Given the description of an element on the screen output the (x, y) to click on. 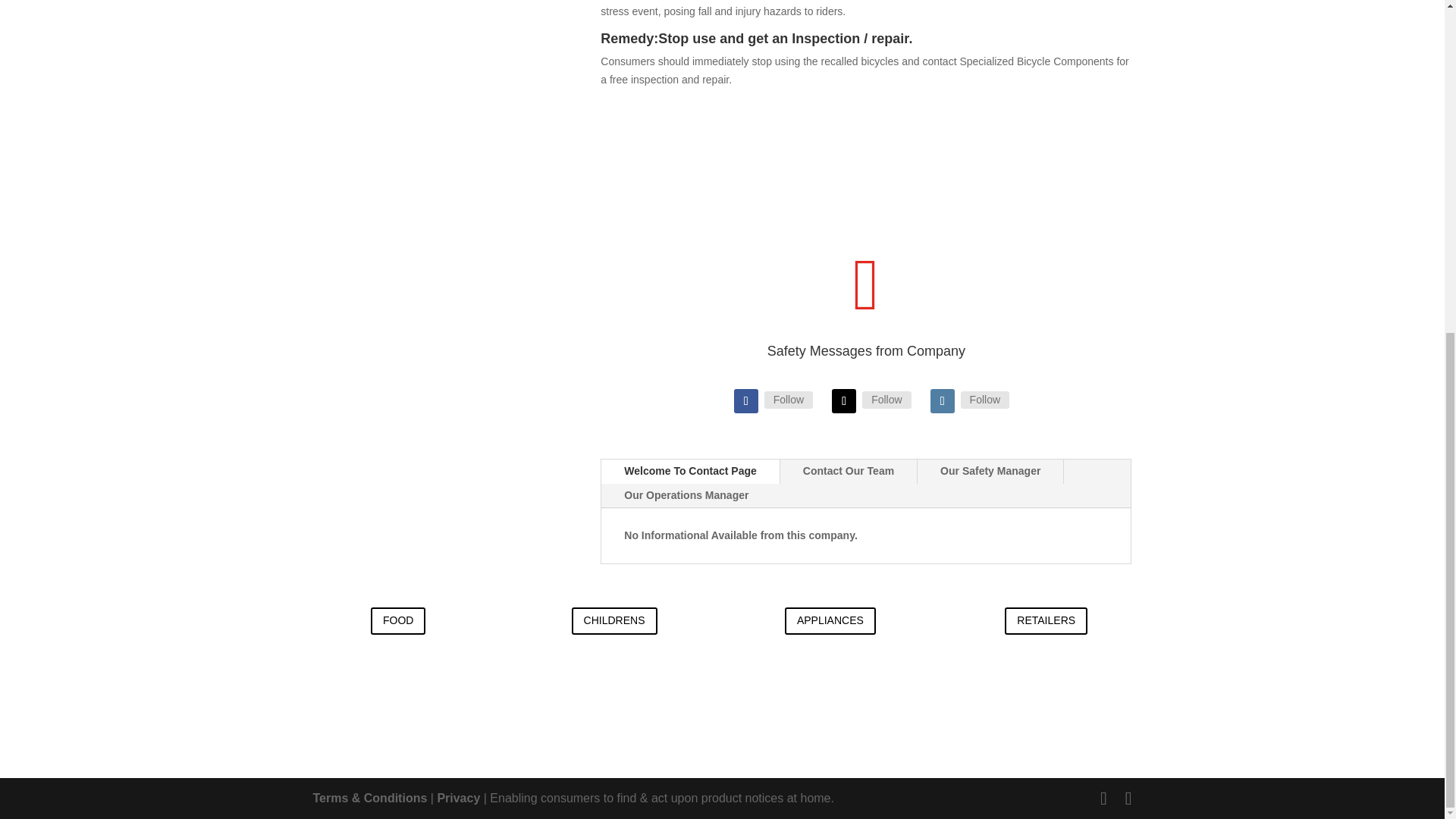
Instagram (984, 399)
Facebook (788, 399)
Follow (984, 399)
Twitter (886, 399)
Follow on Twitter (843, 401)
Our Safety Manager (989, 471)
Privacy (458, 797)
Follow (886, 399)
Contact Our Team (848, 471)
RETAILERS (1045, 620)
